Given the description of an element on the screen output the (x, y) to click on. 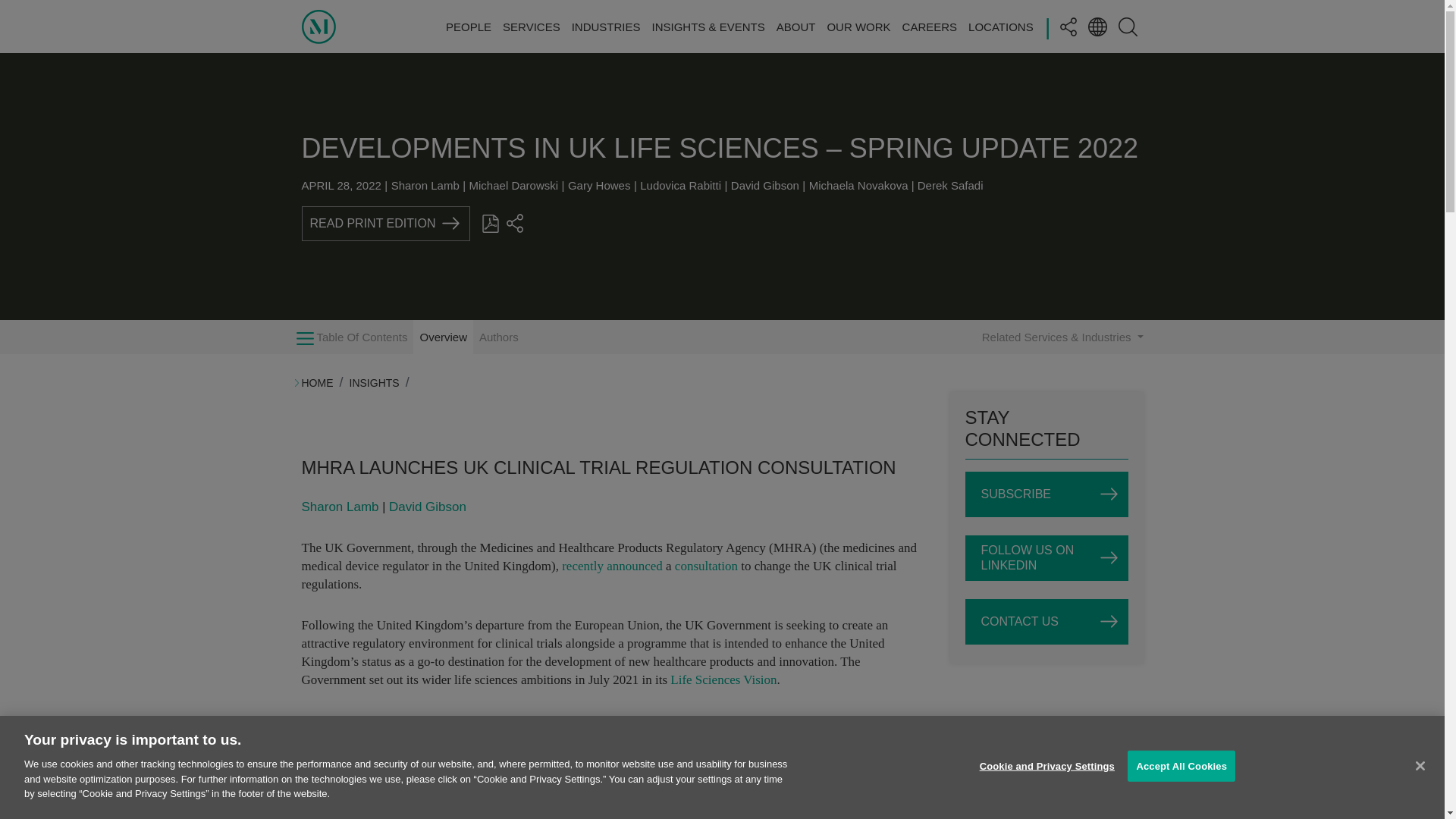
CAREERS (930, 25)
Gary Howes (598, 185)
INDUSTRIES (606, 25)
PEOPLE (468, 25)
Michael Darowski (513, 185)
ABOUT (795, 25)
Sharon Lamb (425, 185)
OUR WORK (858, 25)
LOCATIONS (1000, 25)
SERVICES (531, 25)
